Given the description of an element on the screen output the (x, y) to click on. 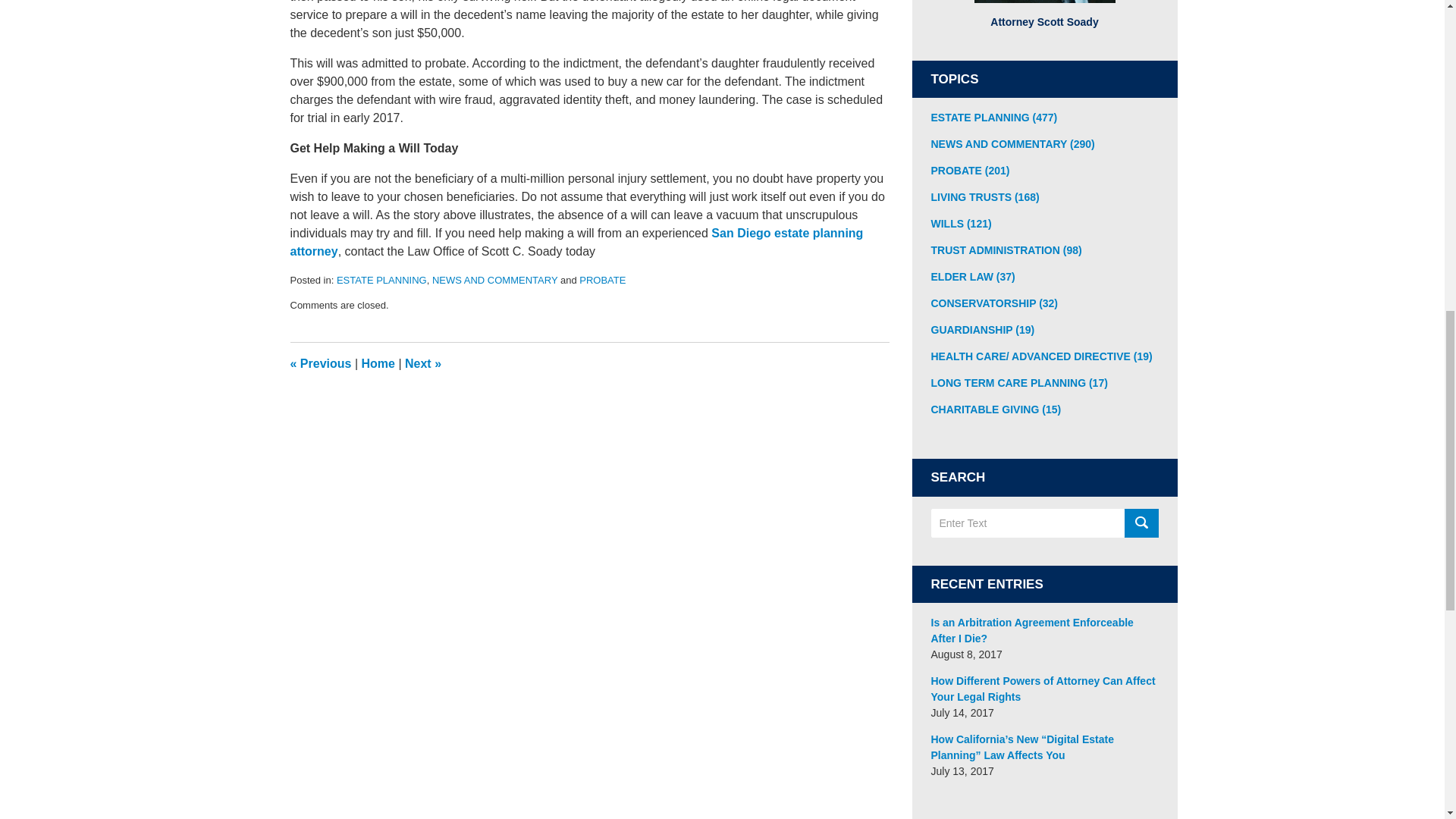
Dealing With Non-California Property in a California Trust (422, 363)
PROBATE (602, 279)
View all posts in PROBATE (602, 279)
View all posts in ESTATE PLANNING (381, 279)
Home (377, 363)
NEWS AND COMMENTARY (494, 279)
View all posts in NEWS AND COMMENTARY (494, 279)
San Diego estate planning attorney (576, 241)
ESTATE PLANNING (381, 279)
